Given the description of an element on the screen output the (x, y) to click on. 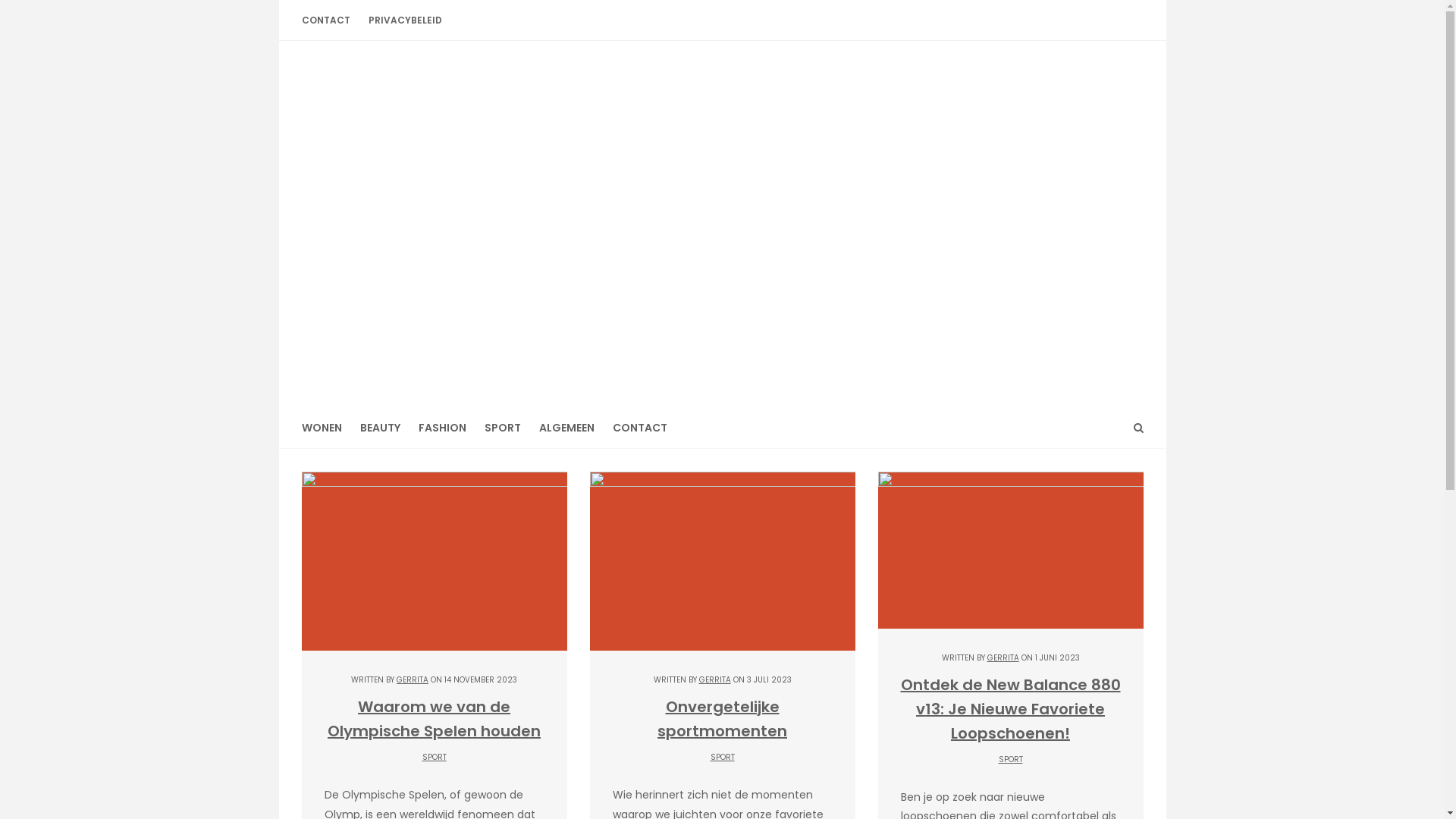
PRIVACYBELEID Element type: text (405, 20)
ALGEMEEN Element type: text (565, 427)
GERRITA Element type: text (1003, 657)
Onvergetelijke sportmomenten Element type: text (722, 718)
BEAUTY Element type: text (379, 427)
GERRITA Element type: text (715, 679)
WONEN Element type: text (326, 427)
SPORT Element type: text (433, 756)
SPORT Element type: text (1009, 759)
GERRITA Element type: text (412, 679)
SPORT Element type: text (721, 756)
FASHION Element type: text (442, 427)
CONTACT Element type: text (330, 20)
CSTORE
FASHION, BEAUTY EN MEER Element type: text (722, 215)
SPORT Element type: text (501, 427)
Waarom we van de Olympische Spelen houden Element type: text (433, 718)
CONTACT Element type: text (639, 427)
